Given the description of an element on the screen output the (x, y) to click on. 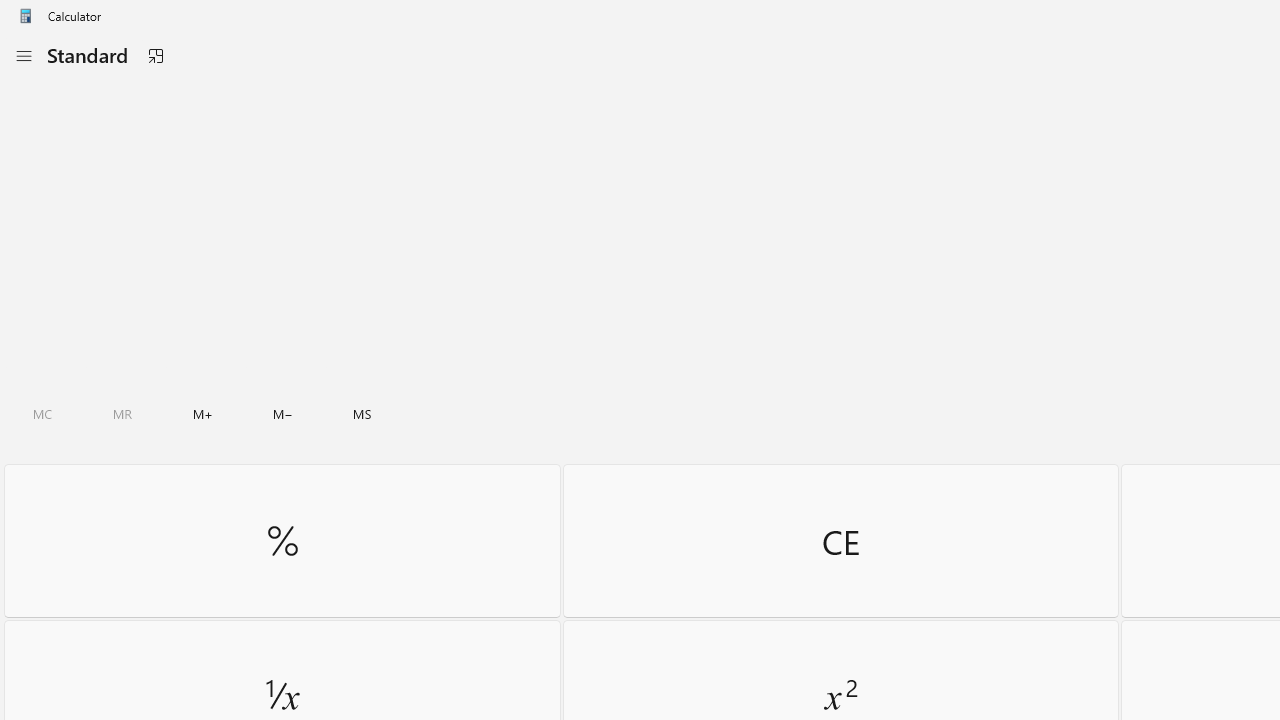
Clear entry (840, 540)
Open Navigation (23, 56)
Clear all memory (42, 414)
Keep on top (155, 56)
Memory recall (123, 414)
Percent (281, 540)
Memory subtract (283, 414)
Memory add (202, 414)
Memory store (362, 414)
